Given the description of an element on the screen output the (x, y) to click on. 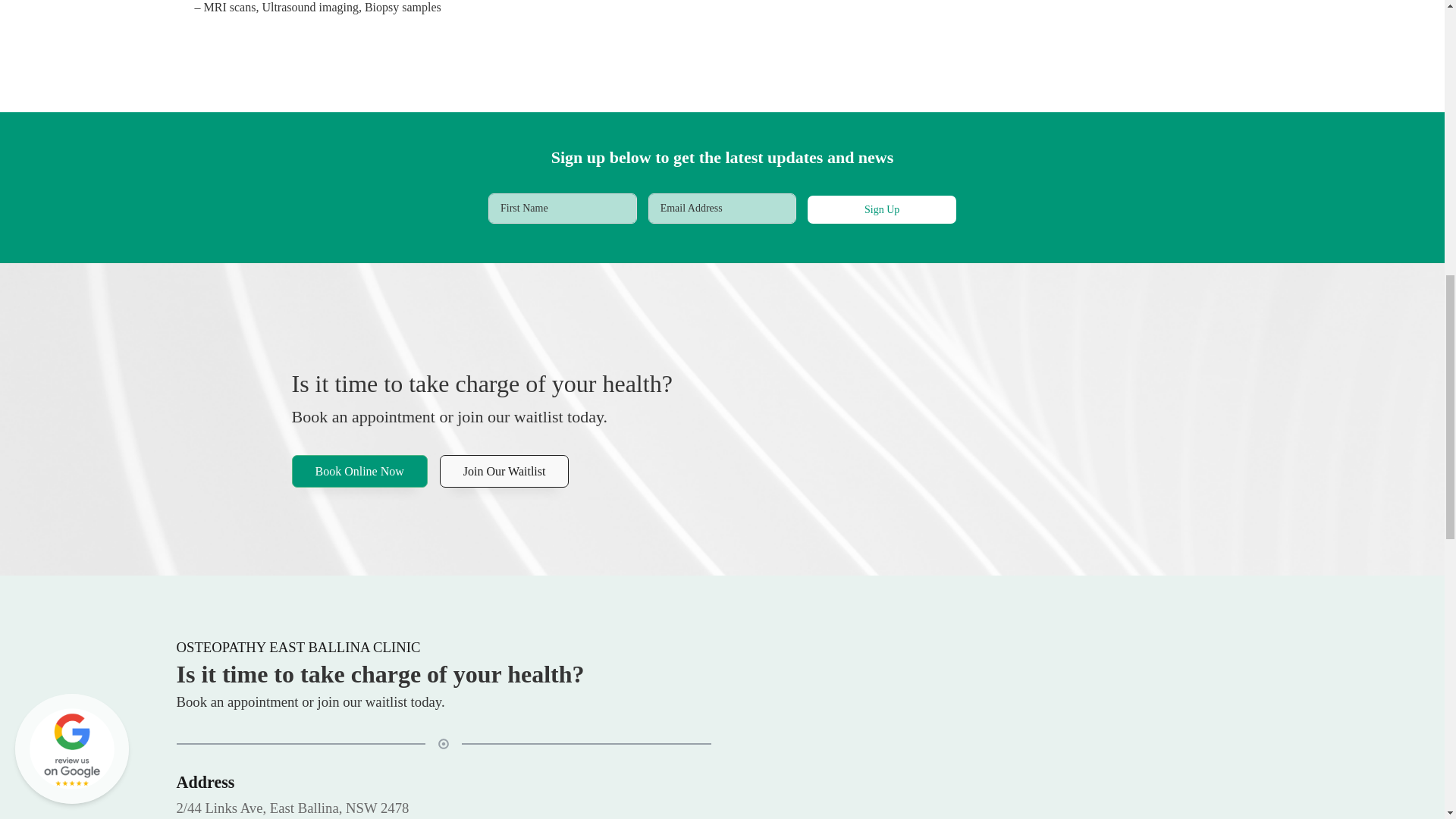
Book Online Now (358, 471)
Join Our Waitlist (504, 471)
Sign Up (882, 209)
